Given the description of an element on the screen output the (x, y) to click on. 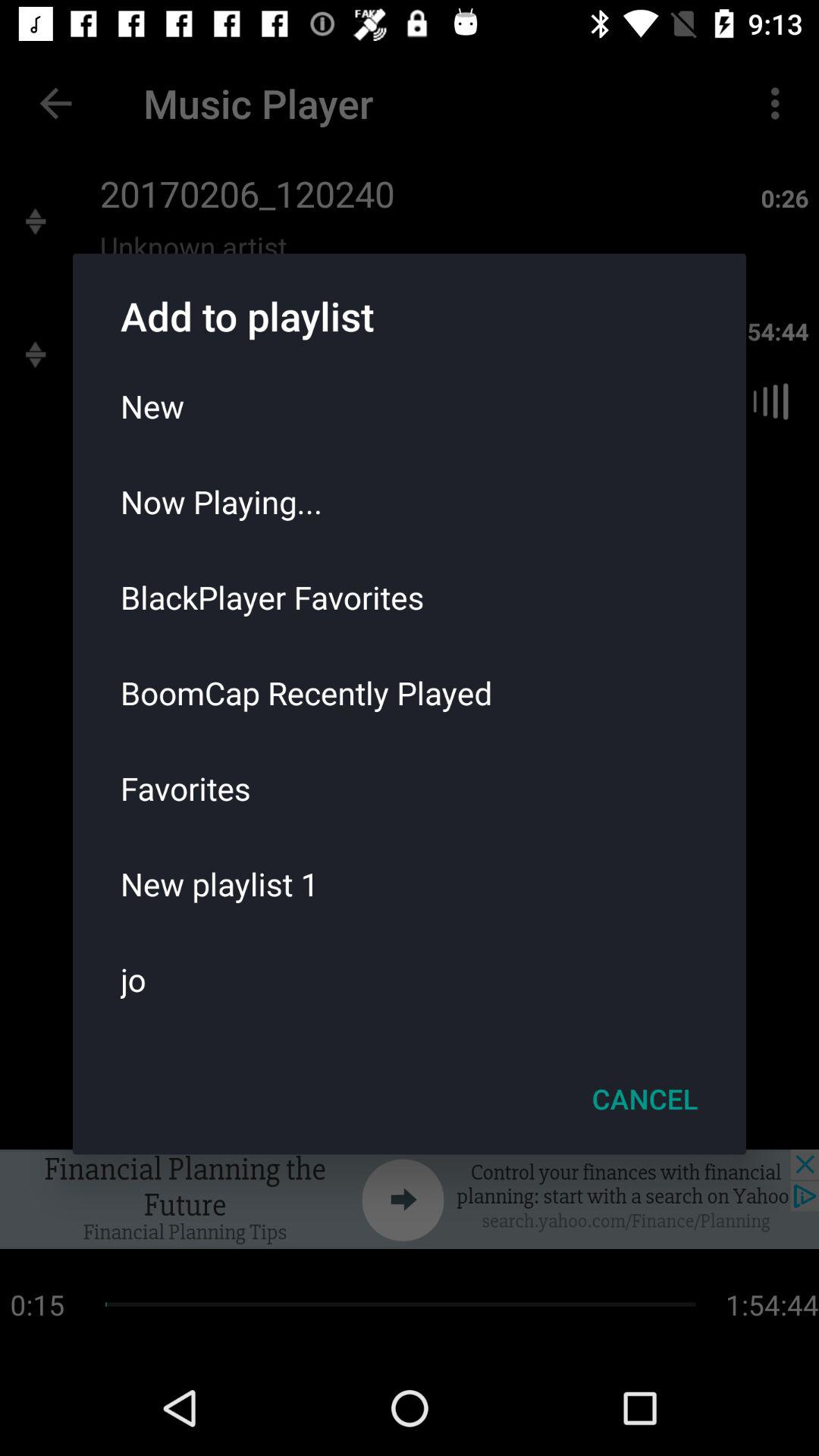
click the jo at the bottom (409, 979)
